Given the description of an element on the screen output the (x, y) to click on. 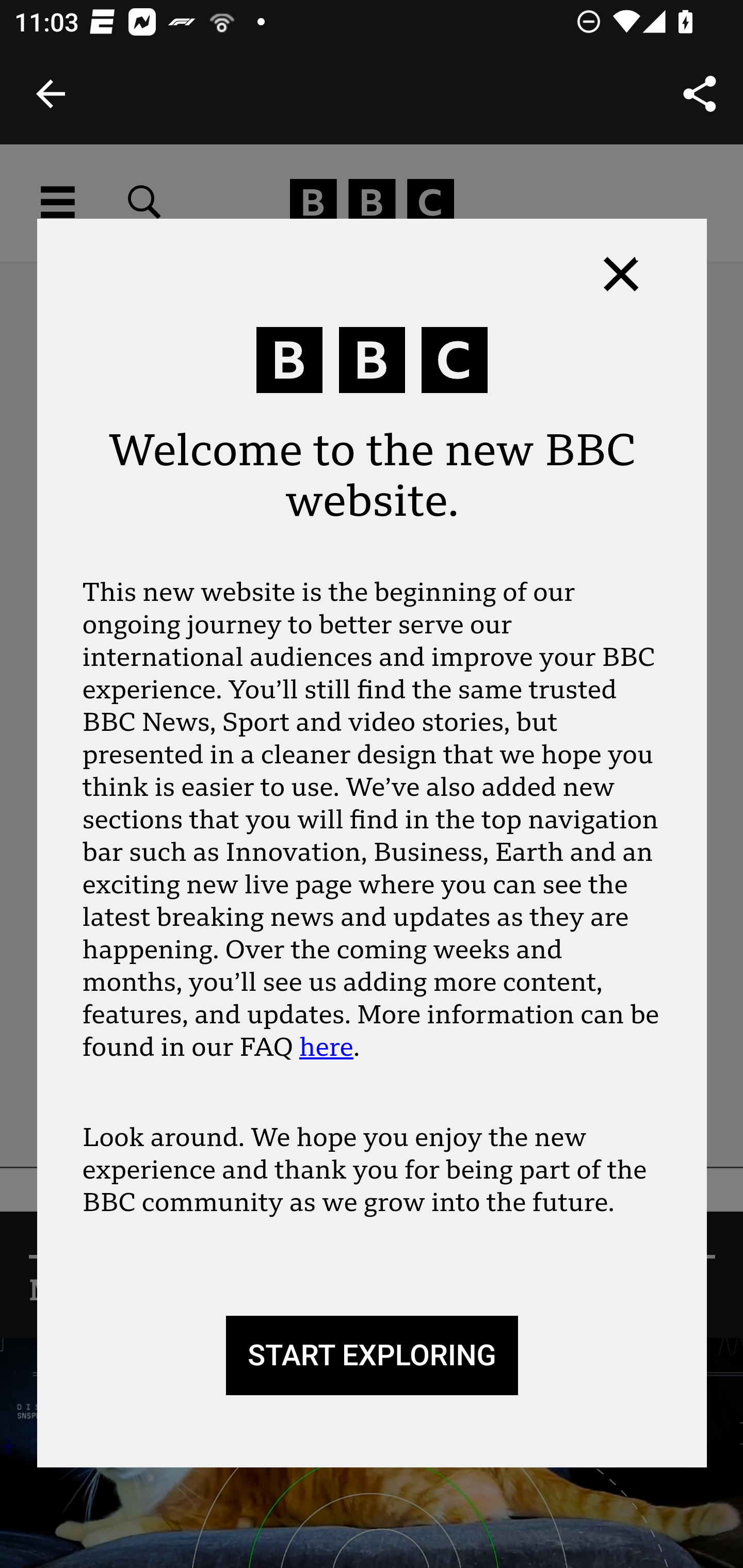
Back (50, 93)
Share (699, 93)
here (325, 1046)
START EXPLORING (371, 1356)
